Given the description of an element on the screen output the (x, y) to click on. 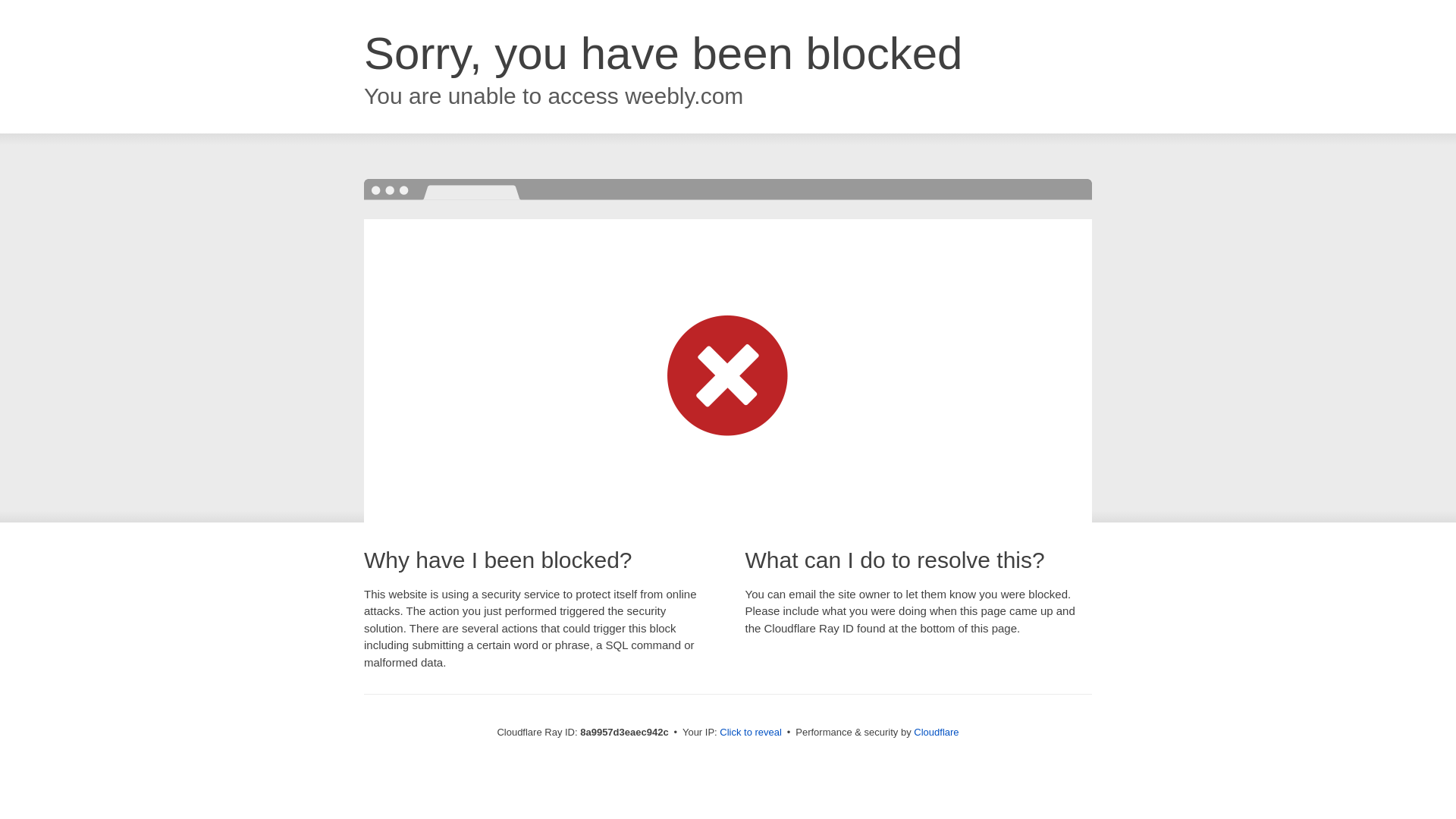
Cloudflare (936, 731)
Click to reveal (750, 732)
